Given the description of an element on the screen output the (x, y) to click on. 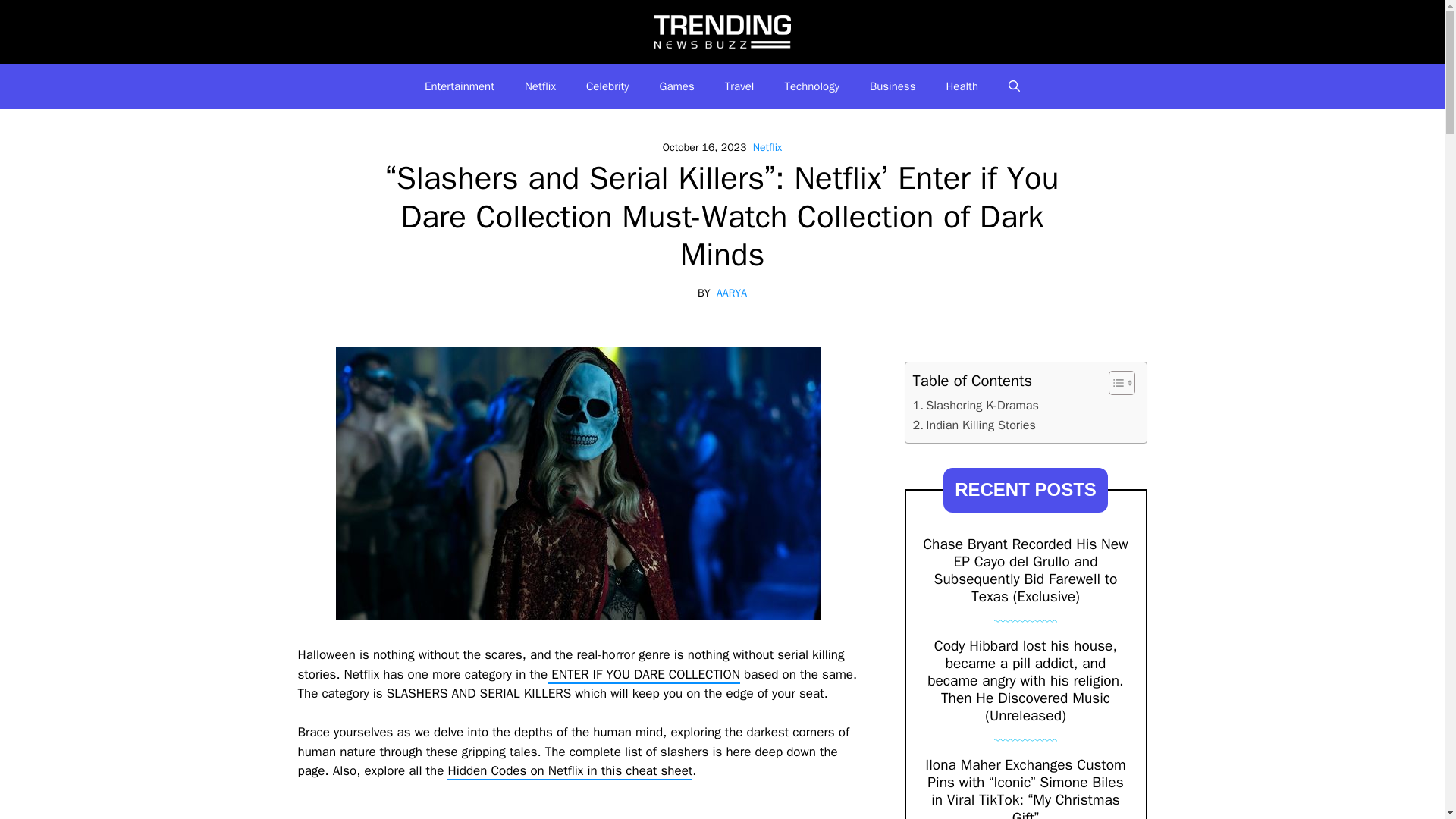
AARYA (731, 292)
ENTER IF YOU DARE COLLECTION (643, 674)
Slashering K-Dramas (975, 405)
Health (961, 85)
Slashering K-Dramas (975, 405)
Technology (811, 85)
Indian Killing Stories (973, 424)
Business (892, 85)
Netflix (539, 85)
Celebrity (607, 85)
Travel (740, 85)
Entertainment (459, 85)
Indian Killing Stories (973, 424)
Netflix (766, 146)
Advertisement (578, 809)
